Given the description of an element on the screen output the (x, y) to click on. 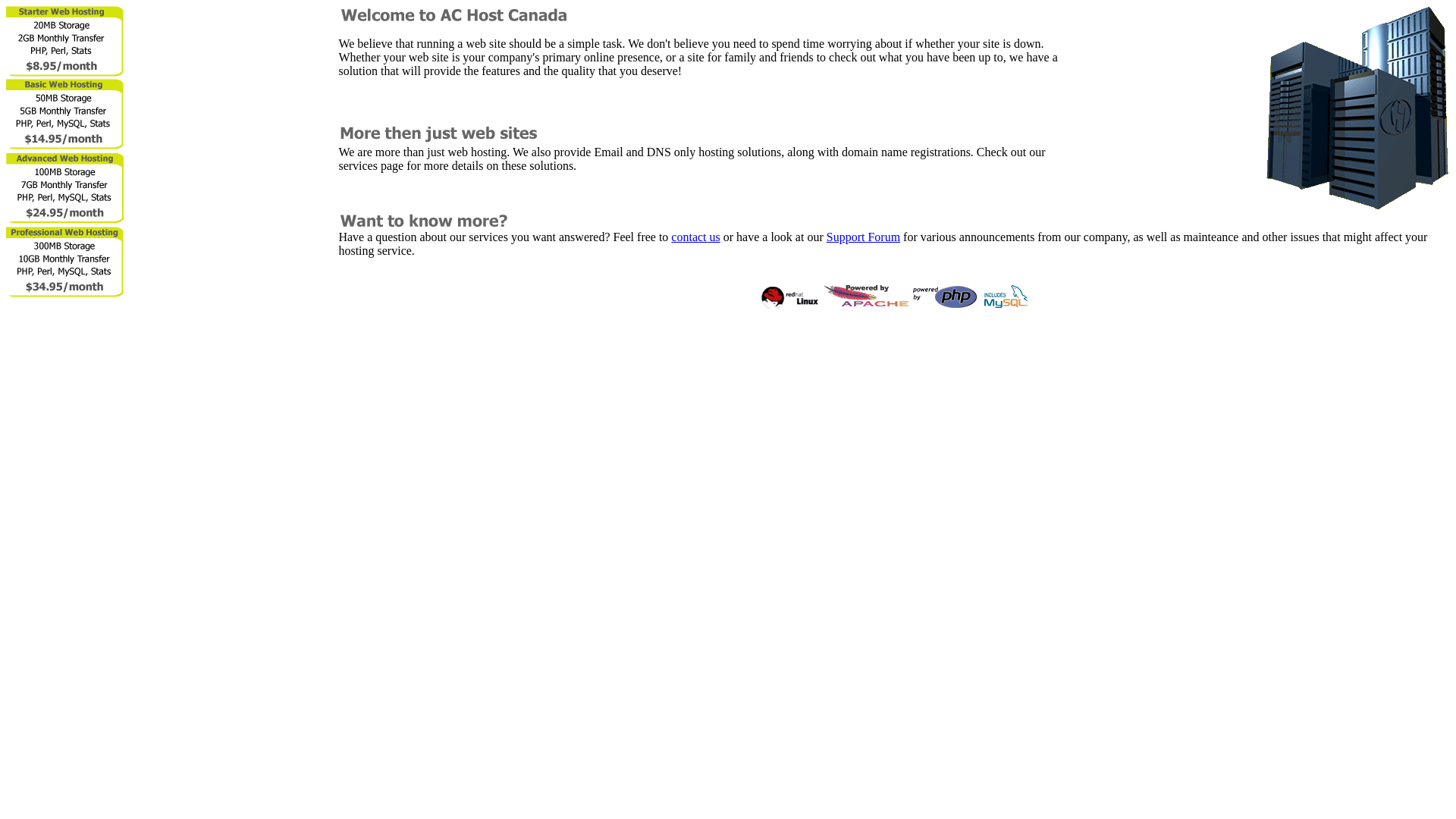
Support Forum Element type: text (863, 236)
contact us Element type: text (695, 236)
